Given the description of an element on the screen output the (x, y) to click on. 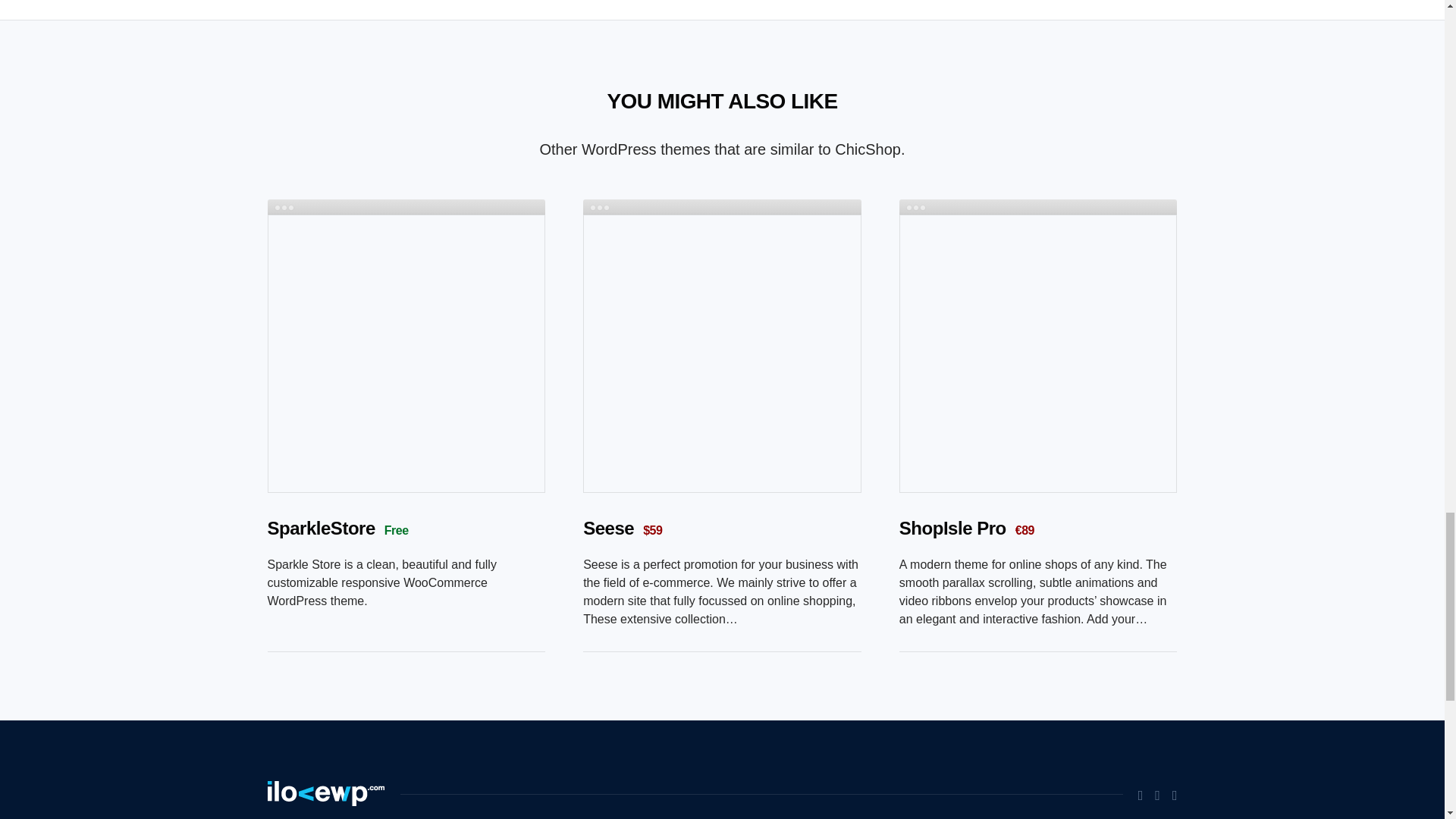
Seese (608, 527)
ShopIsle Pro (952, 527)
SparkleStore (320, 527)
